Given the description of an element on the screen output the (x, y) to click on. 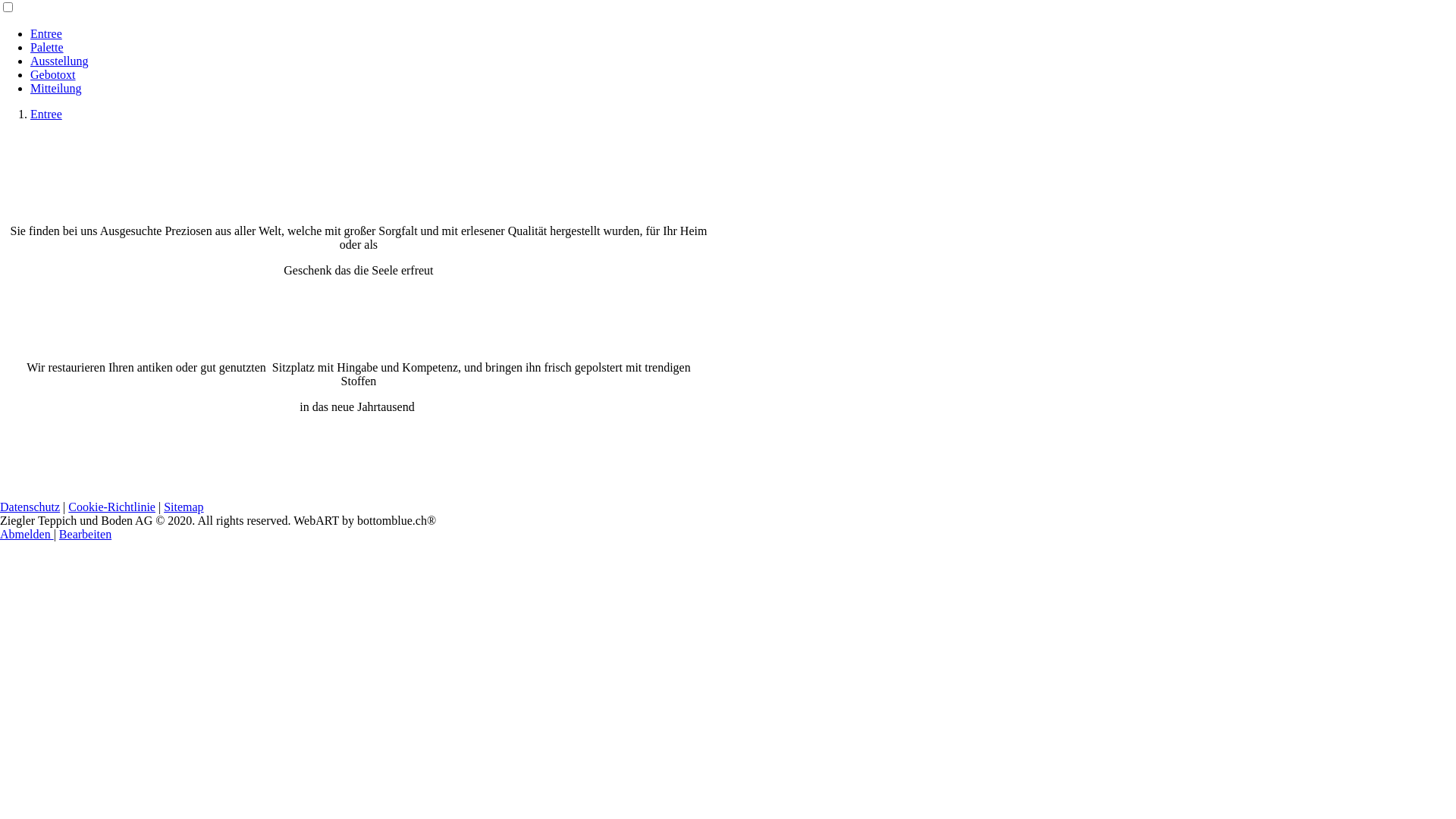
Entree Element type: text (46, 113)
Mitteilung Element type: text (55, 87)
Datenschutz Element type: text (29, 506)
Abmelden Element type: text (26, 533)
Ausstellung Element type: text (58, 60)
Gebotoxt Element type: text (52, 74)
Bearbeiten Element type: text (85, 533)
Sitemap Element type: text (183, 506)
Palette Element type: text (46, 46)
Cookie-Richtlinie Element type: text (111, 506)
Entree Element type: text (46, 33)
